Given the description of an element on the screen output the (x, y) to click on. 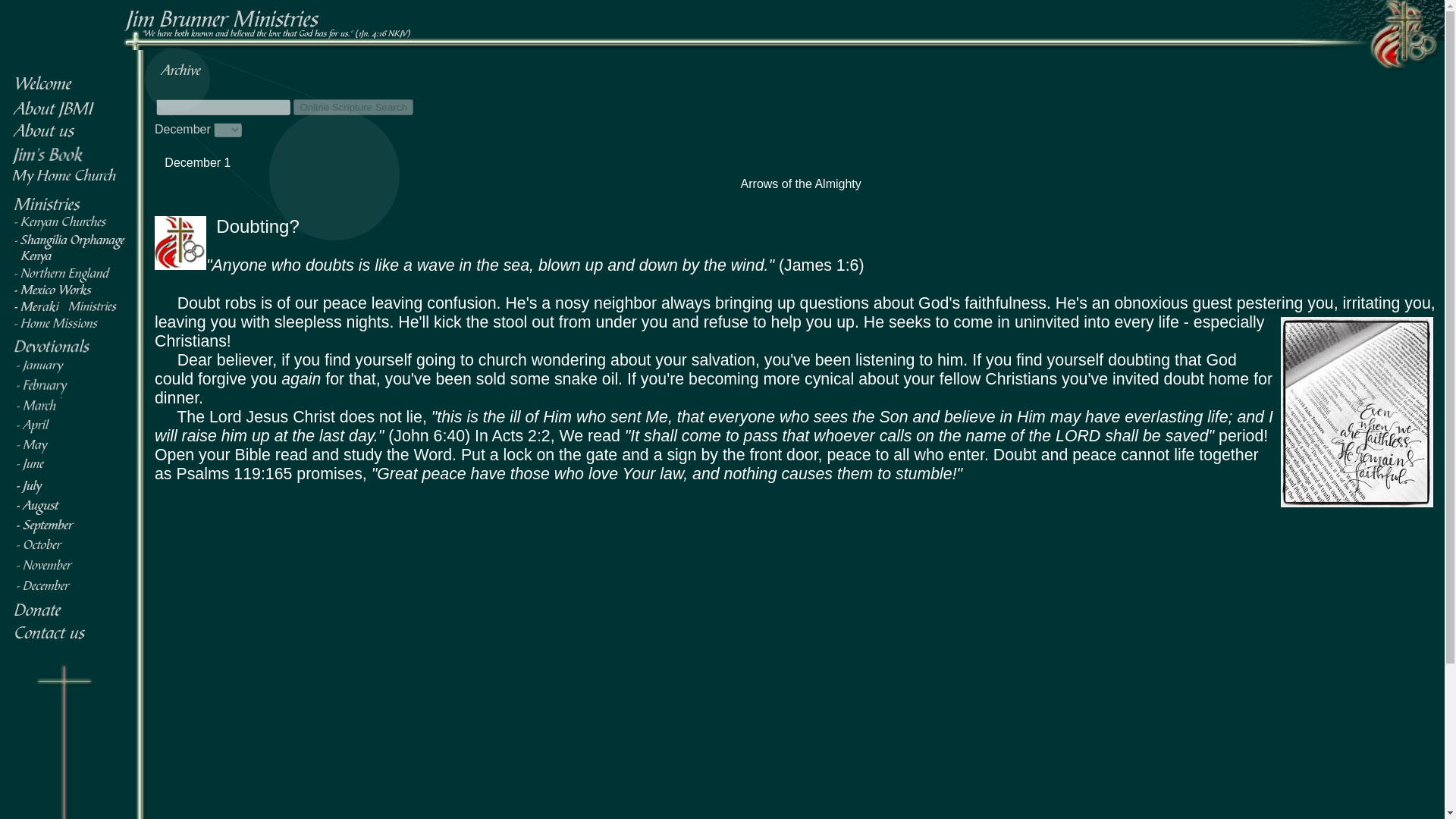
Online Scripture Search (353, 107)
Online Scripture Search (353, 107)
